Given the description of an element on the screen output the (x, y) to click on. 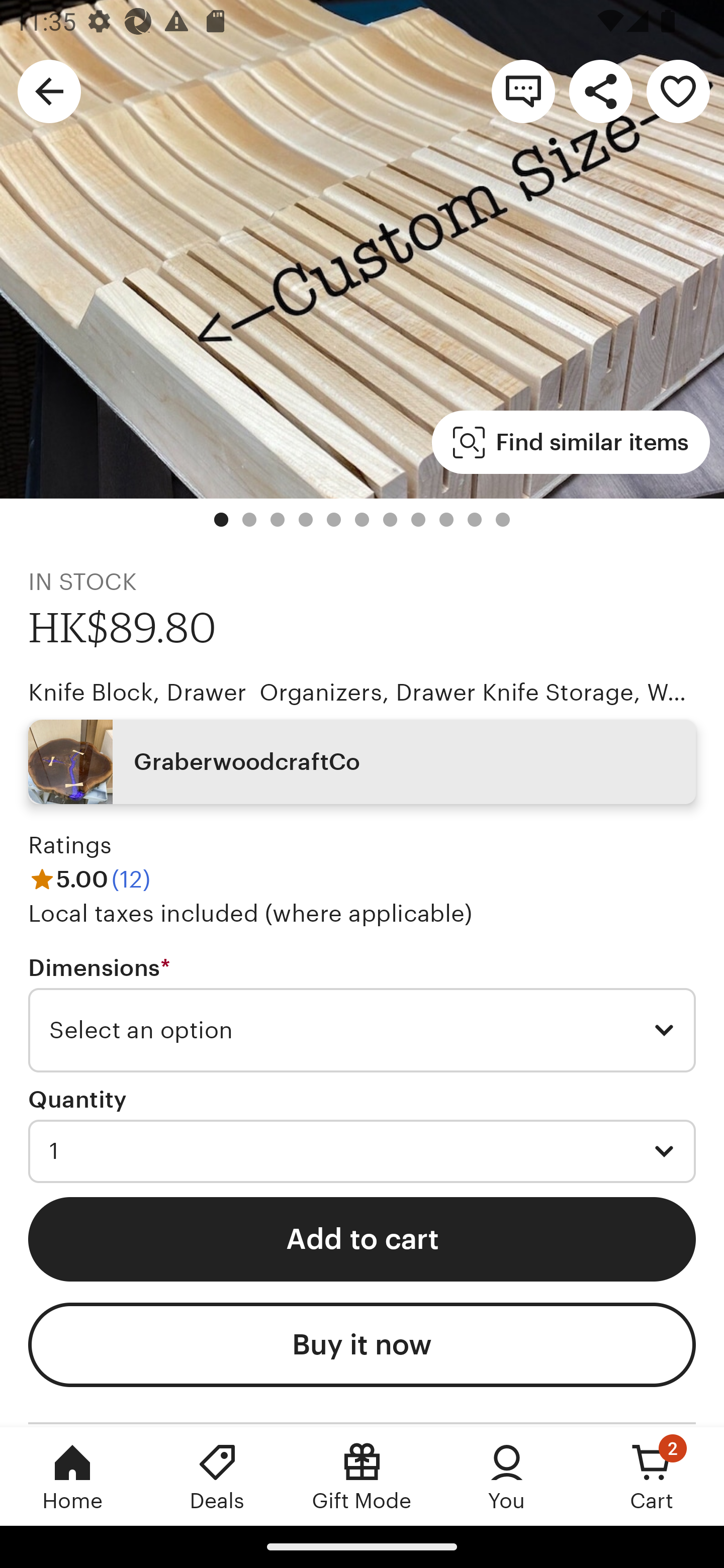
Navigate up (49, 90)
Contact shop (523, 90)
Share (600, 90)
Find similar items (571, 441)
GraberwoodcraftCo (361, 761)
Ratings (70, 844)
5.00 (12) (89, 879)
Dimensions * Required Select an option (361, 1013)
Select an option (361, 1029)
Quantity (77, 1099)
1 (361, 1150)
Add to cart (361, 1238)
Buy it now (361, 1345)
Deals (216, 1475)
Gift Mode (361, 1475)
You (506, 1475)
Cart, 2 new notifications Cart (651, 1475)
